Given the description of an element on the screen output the (x, y) to click on. 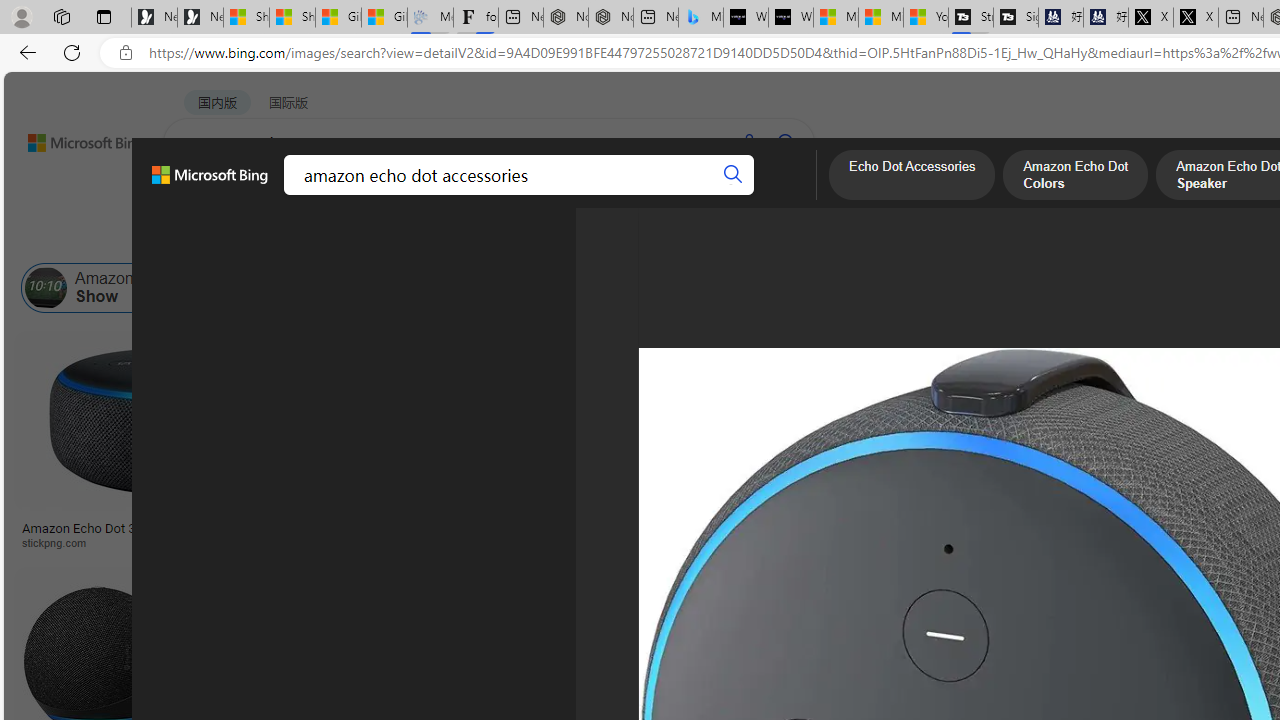
stickpng.herokuapp.com (614, 542)
Image size (222, 237)
Back to Bing search (73, 138)
WEB (201, 195)
MORE (779, 195)
ACADEMIC (548, 195)
People (520, 237)
Echo Dot with Clock (995, 460)
Date (591, 237)
FrAndroid (758, 541)
MAPS (698, 195)
Search using voice (748, 142)
